Given the description of an element on the screen output the (x, y) to click on. 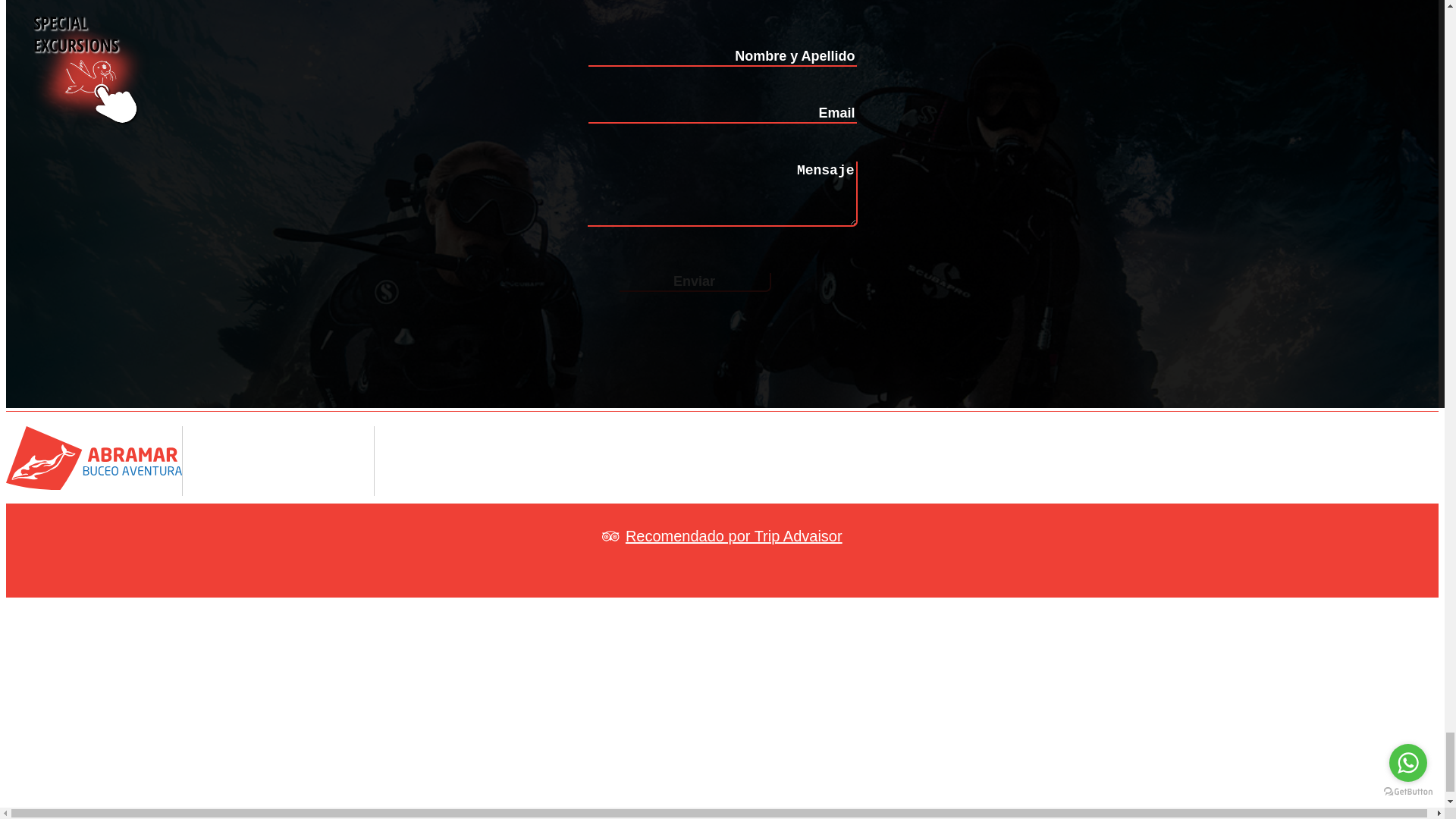
Enviar (694, 281)
Recomendado por Trip Advaisor (721, 535)
Enviar (694, 281)
